Given the description of an element on the screen output the (x, y) to click on. 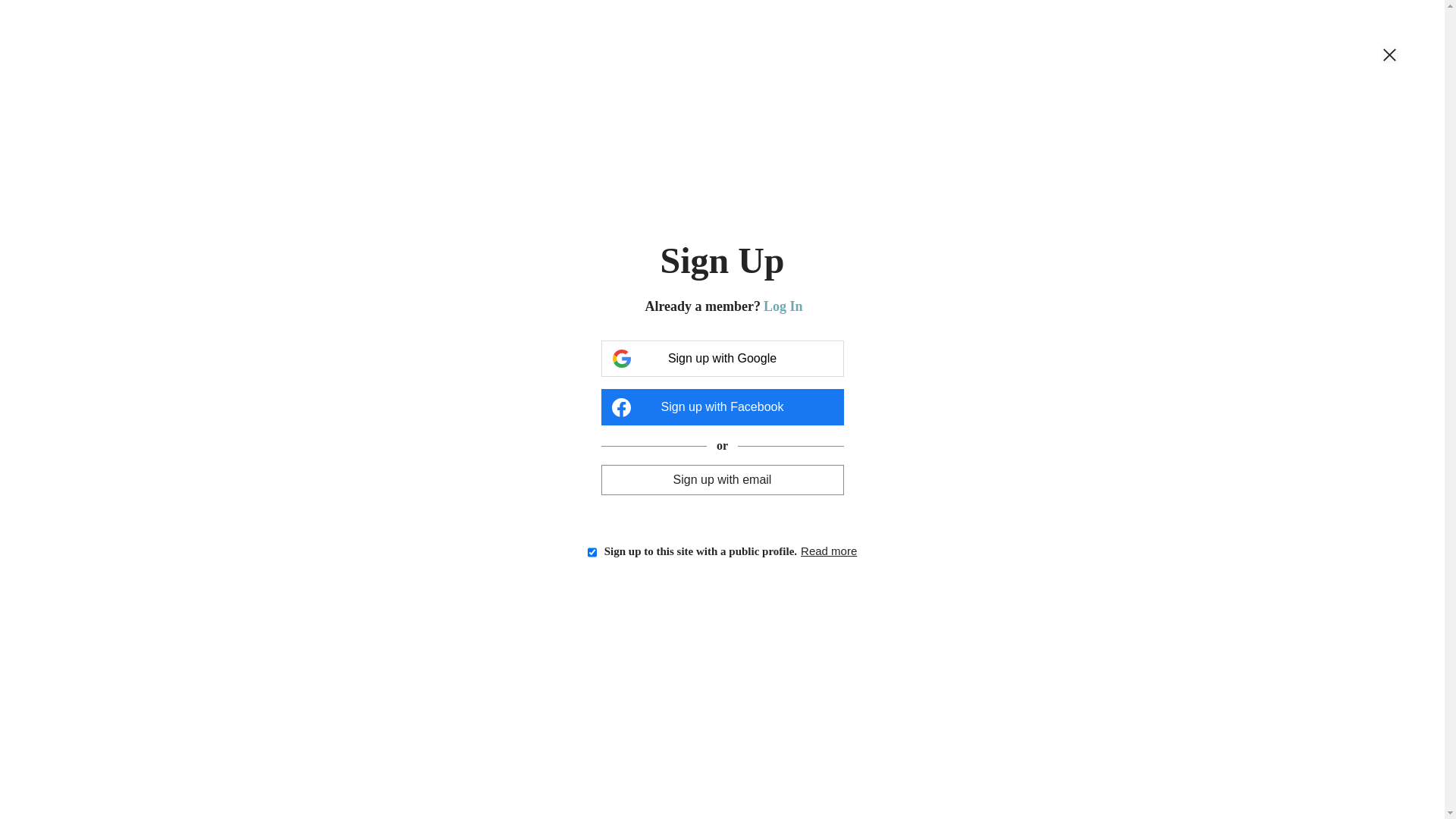
Sign up with Google Element type: text (721, 358)
Sign up with Facebook Element type: text (721, 407)
Sign up with email Element type: text (721, 479)
Log In Element type: text (783, 306)
Read more Element type: text (828, 550)
